Given the description of an element on the screen output the (x, y) to click on. 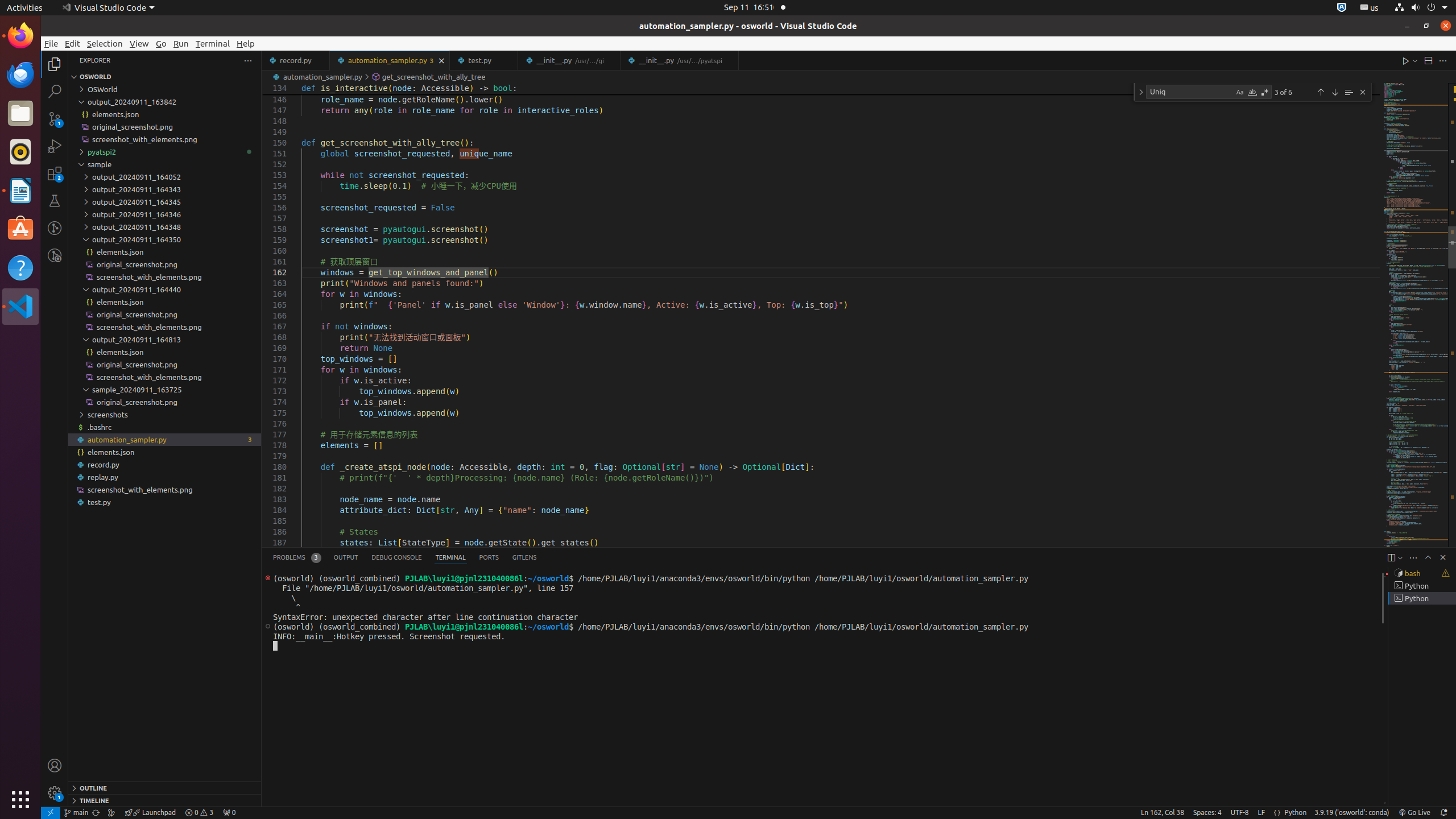
New Terminal (Ctrl+Shift+`) [Alt] Split Terminal (Ctrl+Shift+5) Element type: push-button (1390, 557)
Terminal 2 Python Element type: list-item (1422, 585)
__init__.py Element type: page-tab (679, 60)
